Given the description of an element on the screen output the (x, y) to click on. 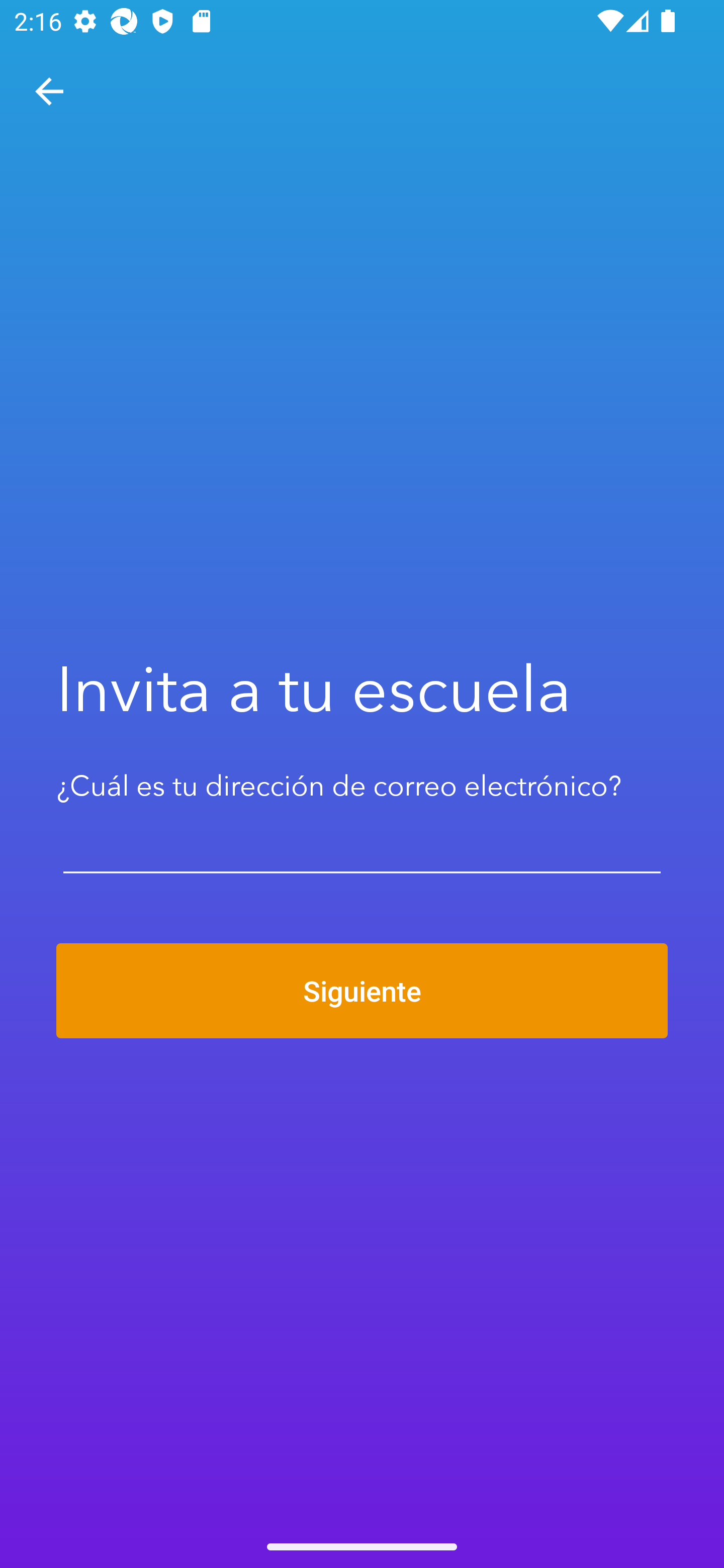
Navegar hacia arriba (49, 91)
Siguiente (361, 990)
